Given the description of an element on the screen output the (x, y) to click on. 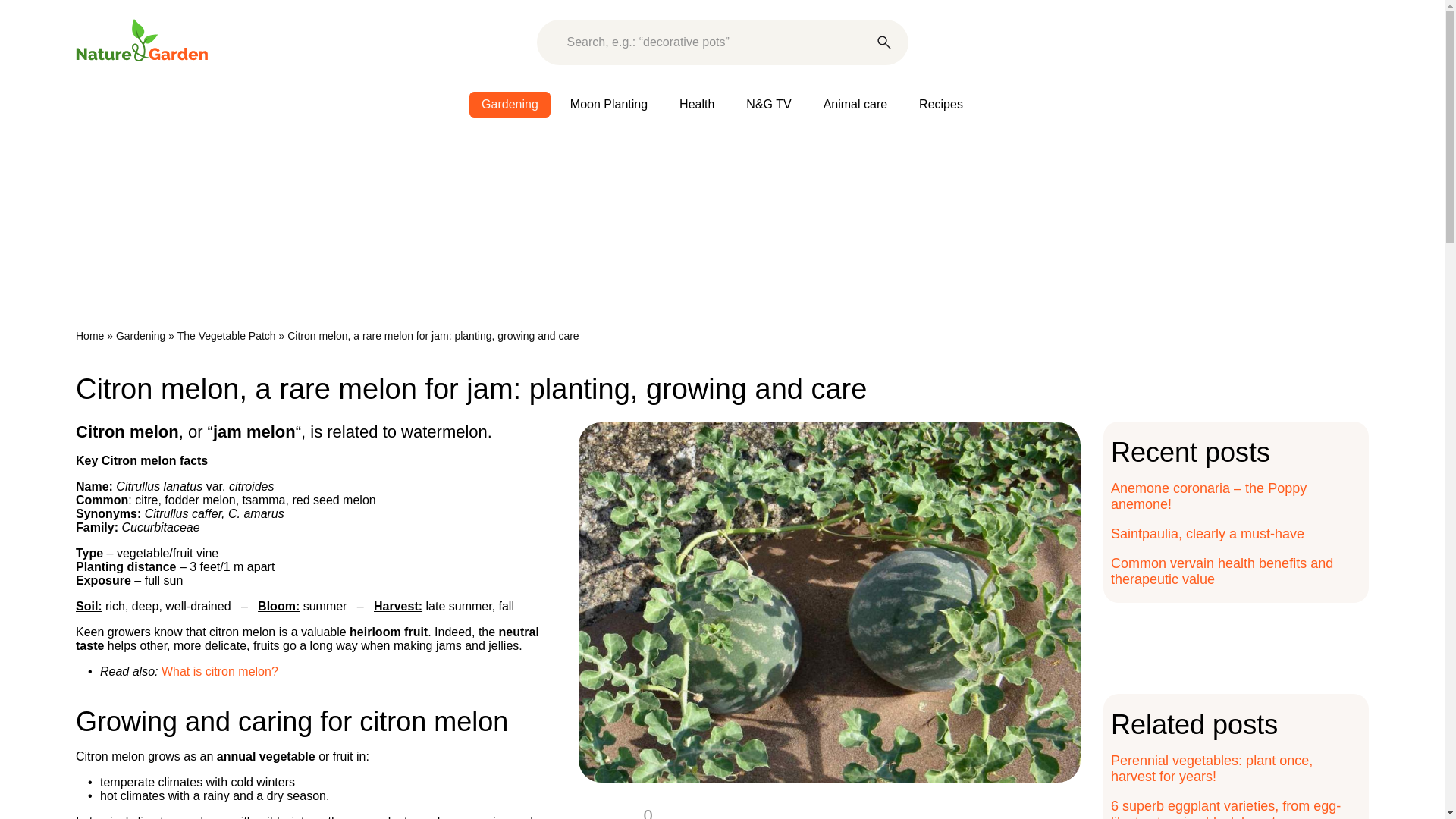
Health (696, 104)
Rechercher (884, 42)
Animal care (854, 104)
Rechercher (884, 42)
Gardening (509, 104)
Rechercher (884, 42)
Moon Planting (608, 104)
Recipes (941, 104)
